Given the description of an element on the screen output the (x, y) to click on. 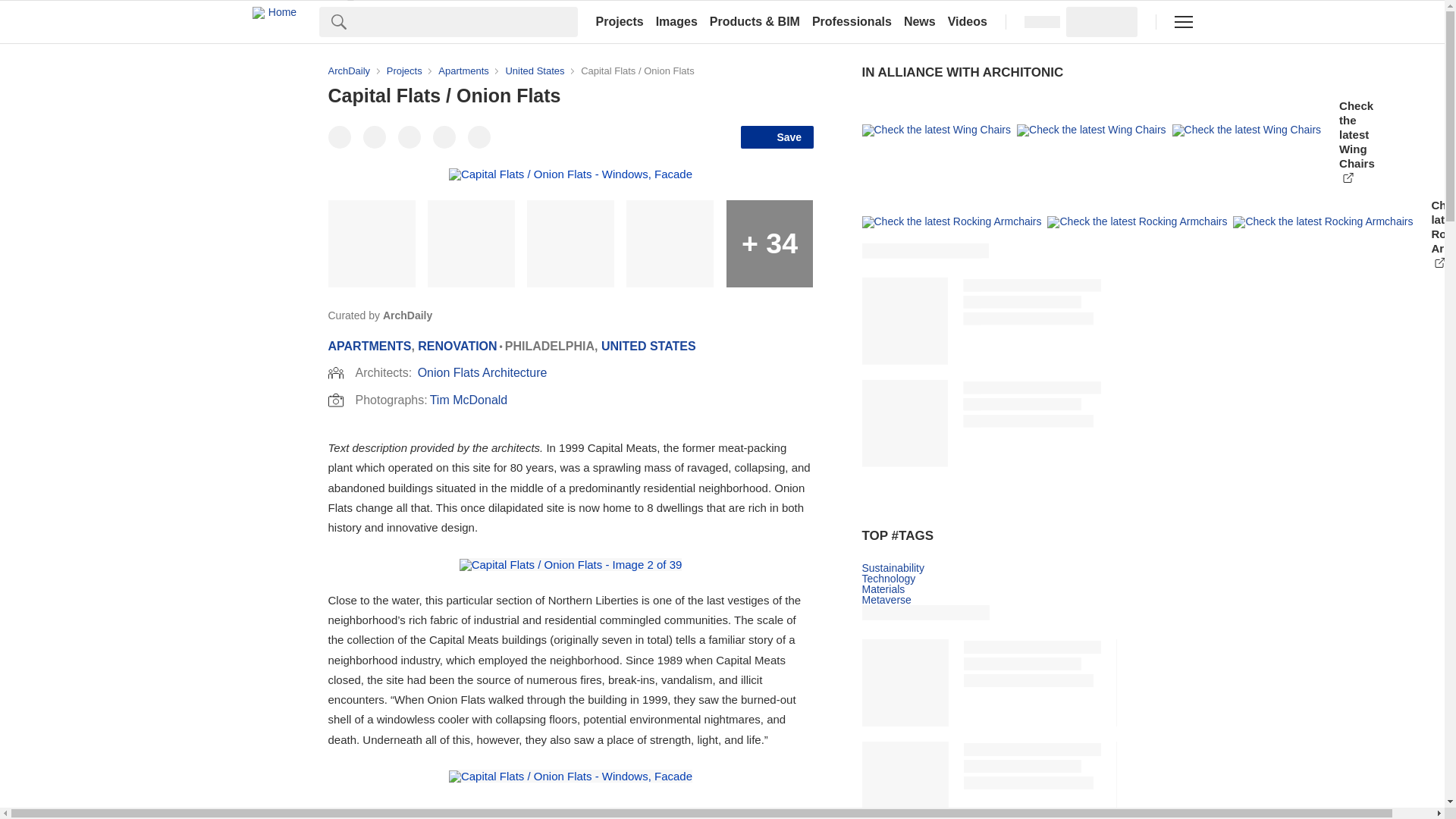
Projects (619, 21)
Images (676, 21)
Videos (967, 21)
Professionals (852, 21)
News (920, 21)
